Given the description of an element on the screen output the (x, y) to click on. 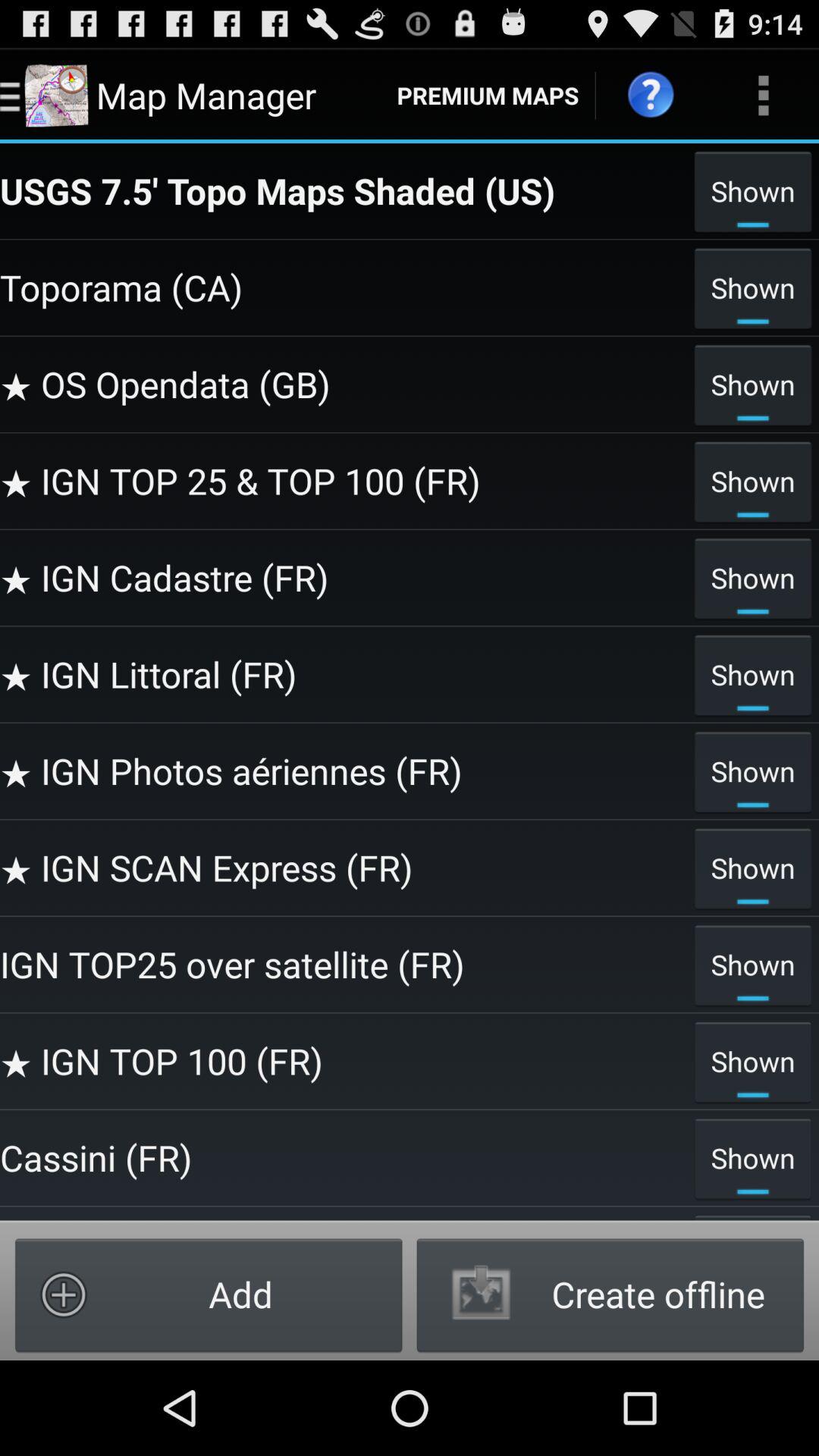
click the item next to shown item (343, 287)
